Given the description of an element on the screen output the (x, y) to click on. 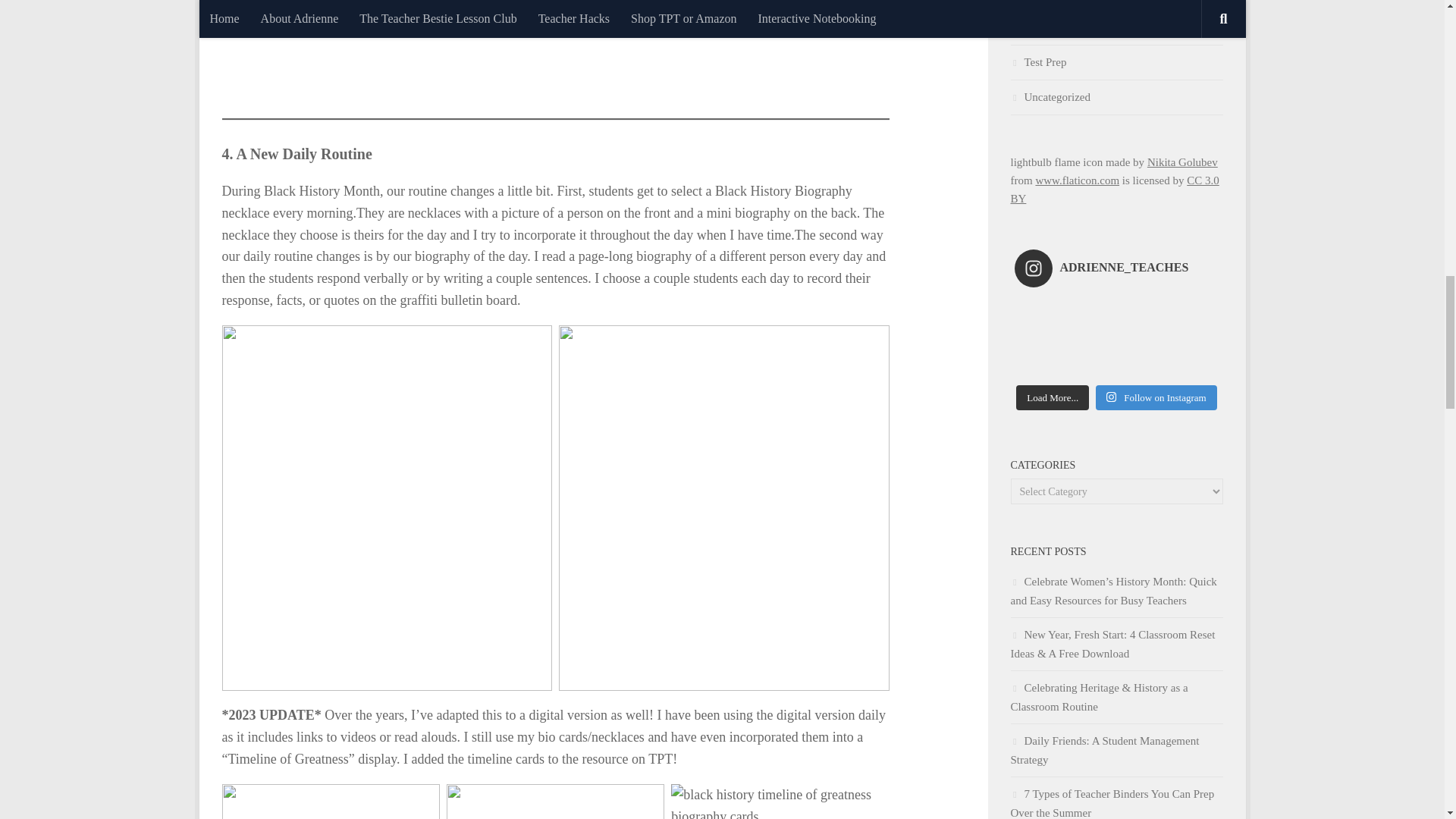
Creative Commons BY 3.0 (1114, 189)
Flaticon (1077, 180)
Nikita Golubev (1182, 162)
